Given the description of an element on the screen output the (x, y) to click on. 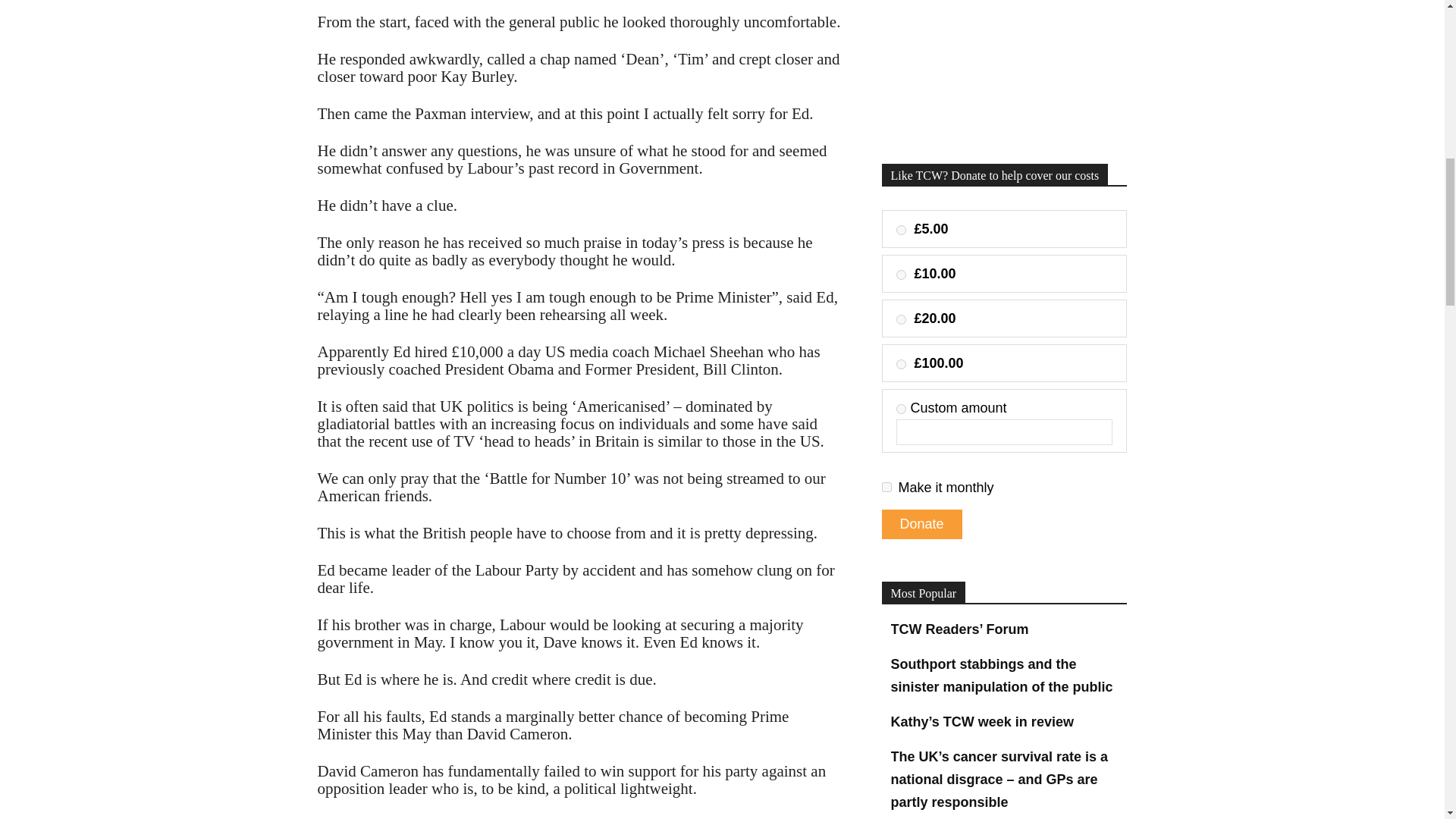
5 (900, 230)
custom (900, 409)
100 (900, 364)
month (885, 487)
10 (900, 275)
20 (900, 319)
